Given the description of an element on the screen output the (x, y) to click on. 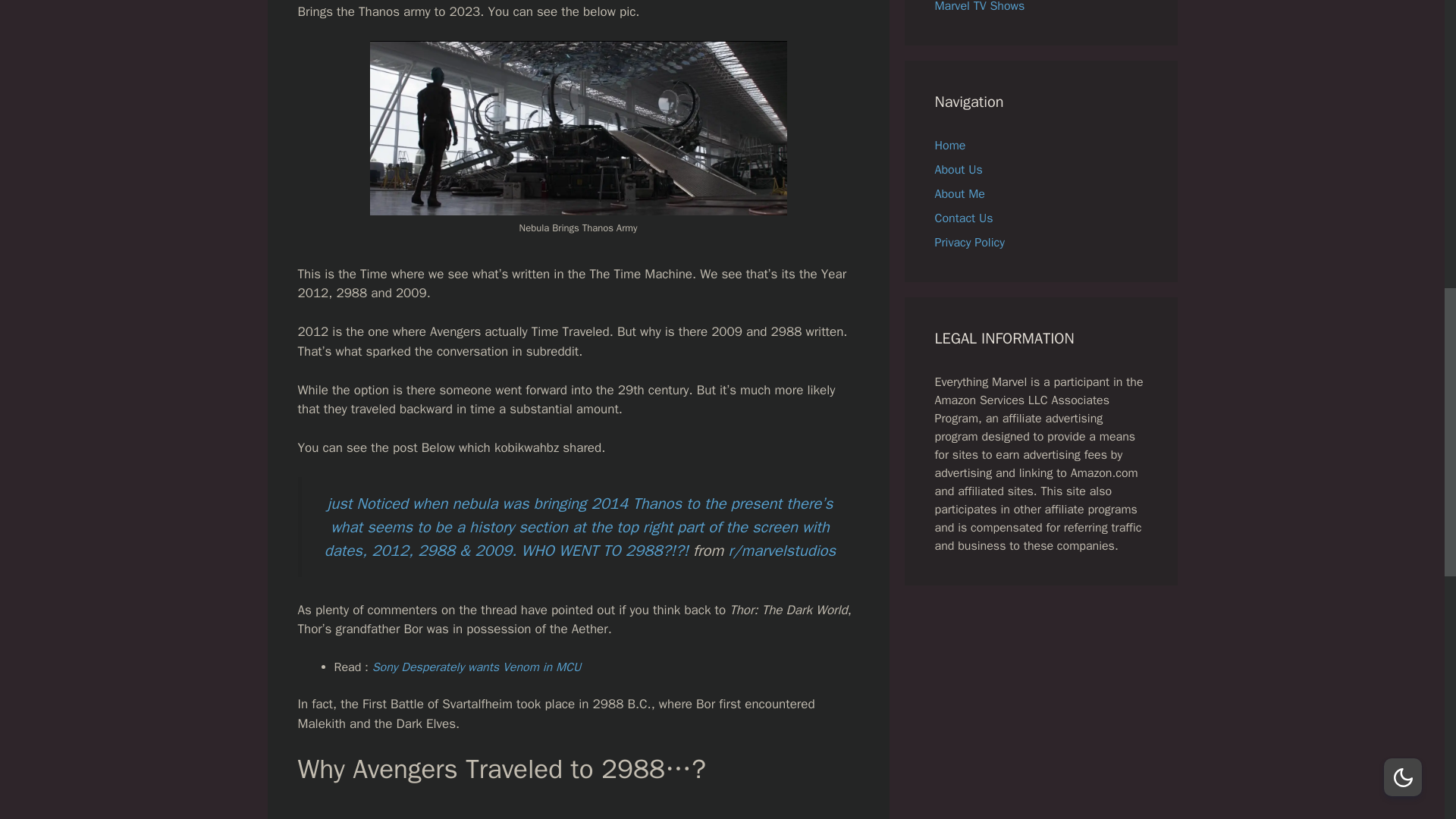
About Us (957, 169)
Home (949, 145)
Sony Desperately wants Venom in MCU (476, 667)
About Me (959, 193)
Contact Us (963, 218)
Marvel TV Shows (979, 6)
Privacy Policy (969, 242)
